Given the description of an element on the screen output the (x, y) to click on. 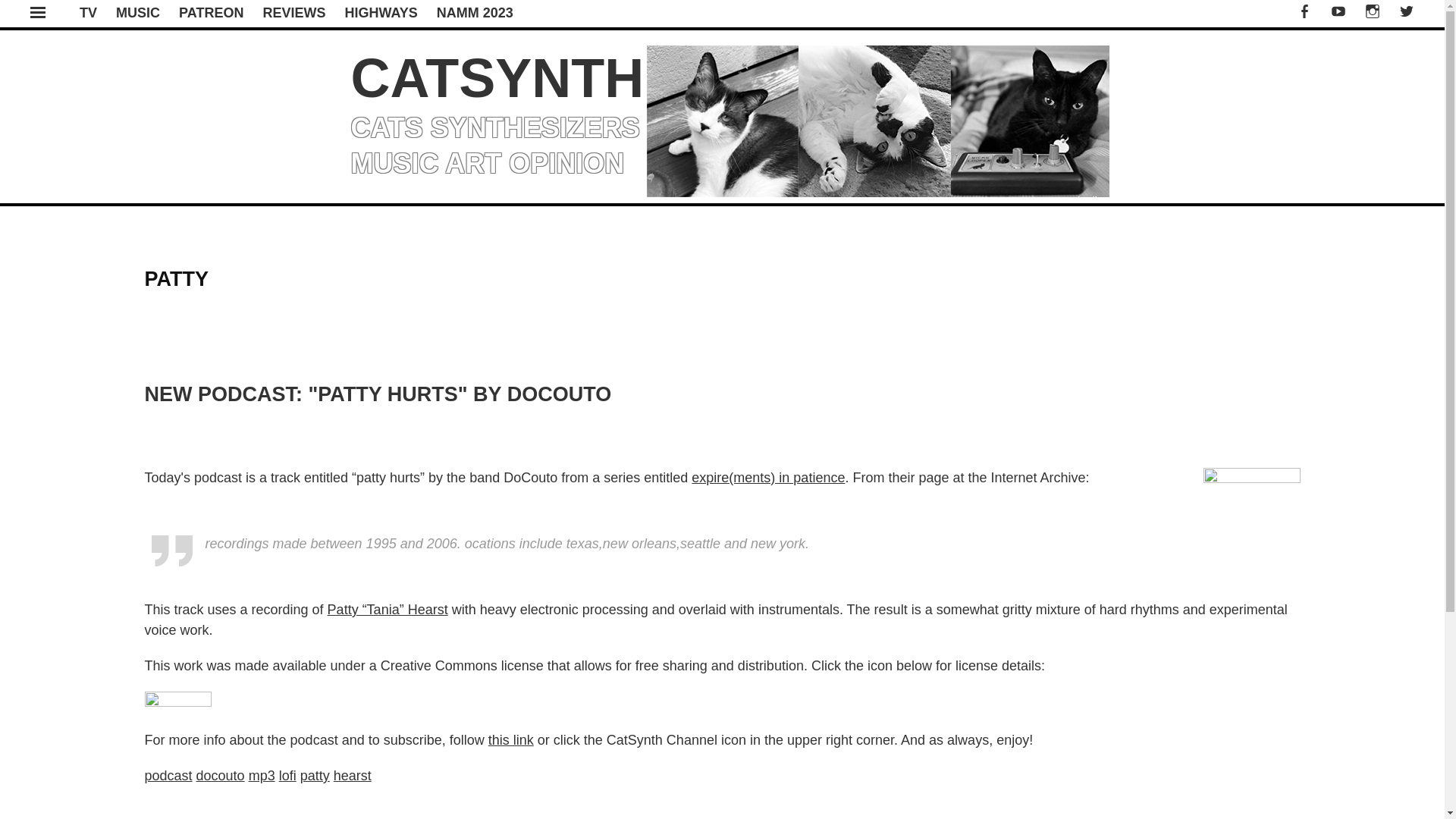
CATSYNTH (496, 77)
TV (88, 12)
HIGHWAYS (379, 12)
PATREON (211, 12)
MUSIC (138, 12)
NAMM 2023 (474, 12)
REVIEWS (293, 12)
